Given the description of an element on the screen output the (x, y) to click on. 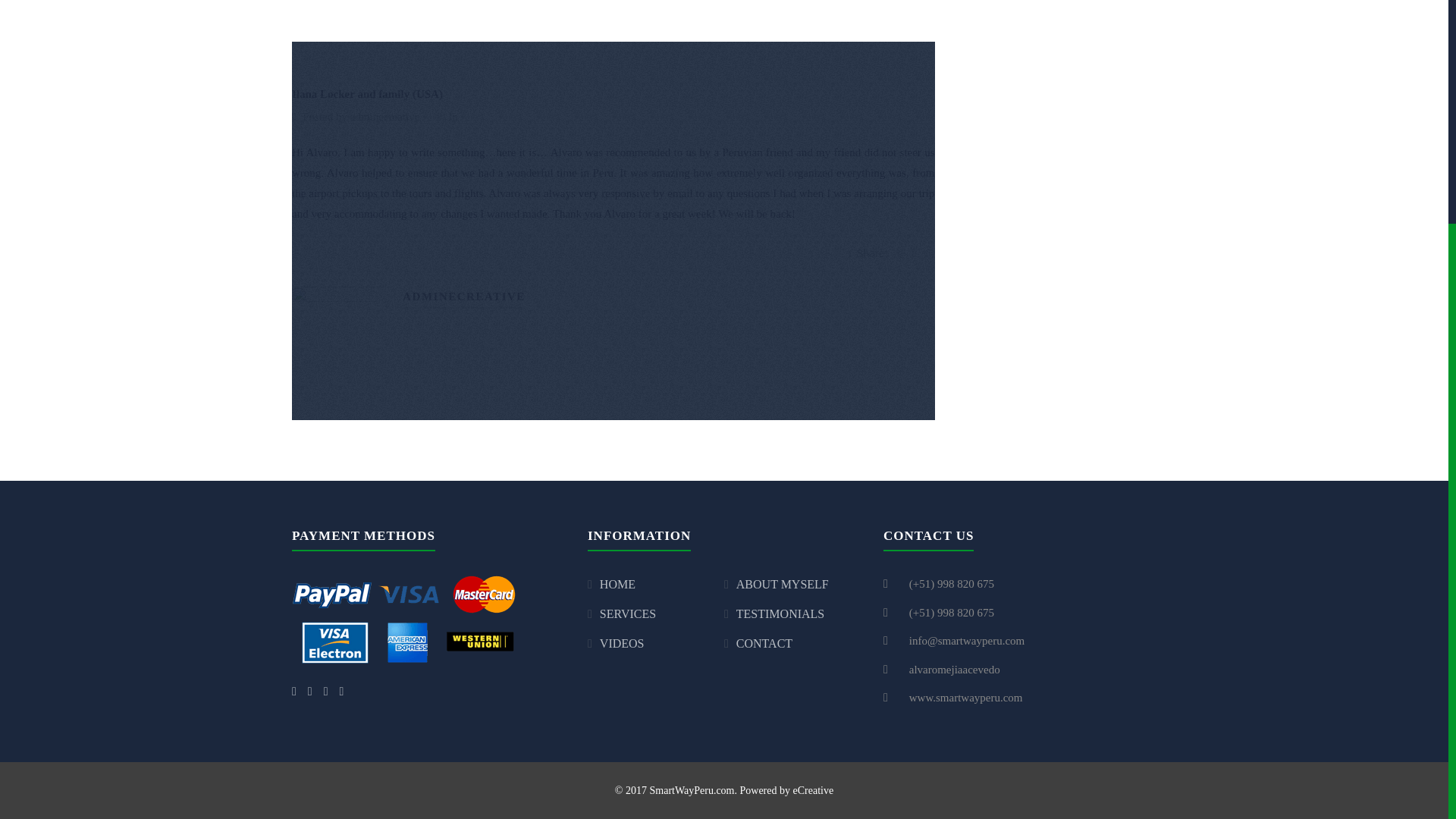
HOME (616, 584)
VIDEOS (622, 643)
ABOUT MYSELF (782, 584)
SERVICES (627, 613)
TESTIMONIALS (780, 613)
eCreative (813, 790)
CONTACT (764, 643)
